Given the description of an element on the screen output the (x, y) to click on. 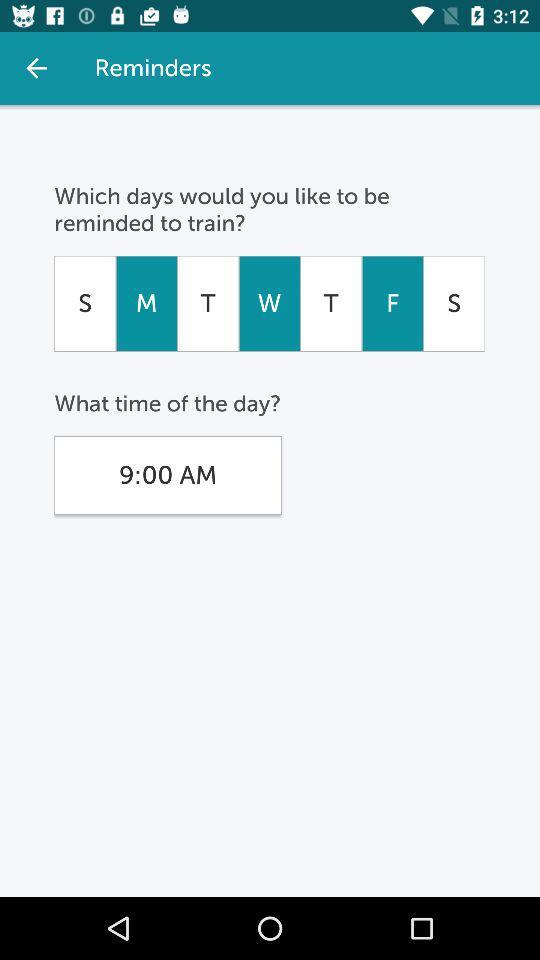
turn on icon next to s icon (392, 303)
